Given the description of an element on the screen output the (x, y) to click on. 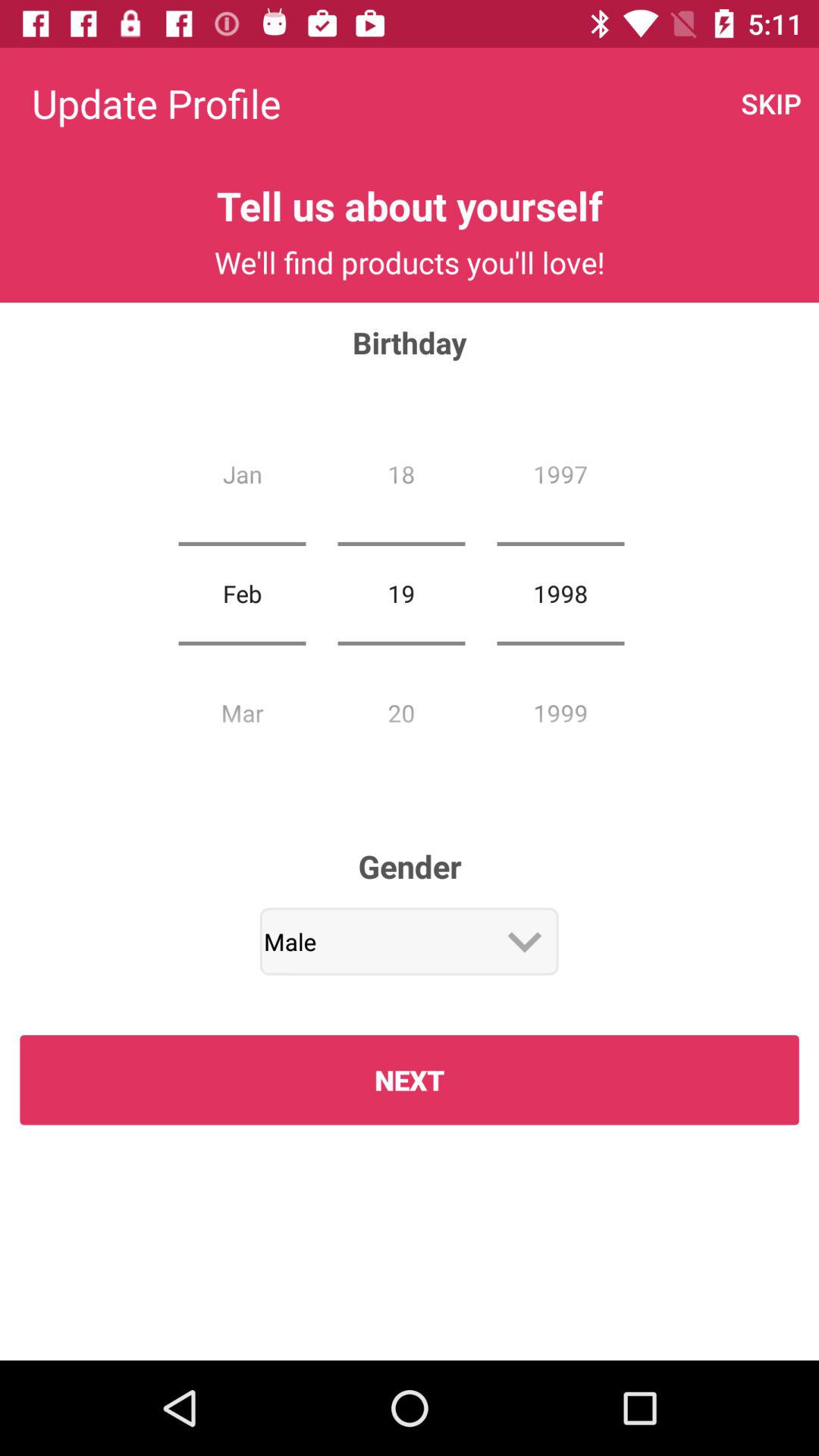
scroll until the 19 (401, 593)
